Given the description of an element on the screen output the (x, y) to click on. 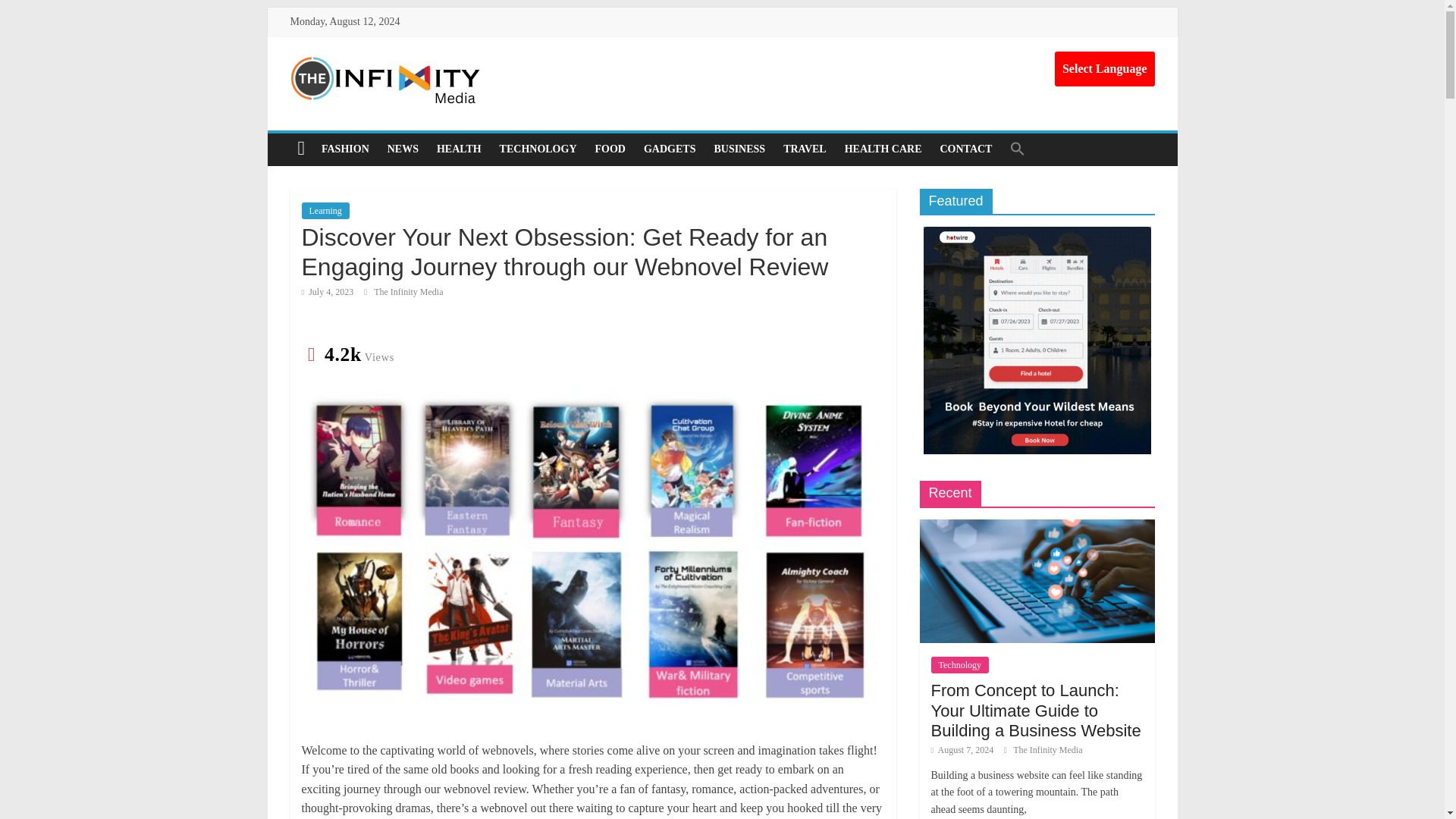
July 4, 2023 (327, 291)
NEWS (403, 149)
Learning (325, 210)
TRAVEL (804, 149)
The Infinity Media (408, 291)
CONTACT (965, 149)
10:37 am (327, 291)
TECHNOLOGY (538, 149)
BUSINESS (739, 149)
HEALTH (459, 149)
